Given the description of an element on the screen output the (x, y) to click on. 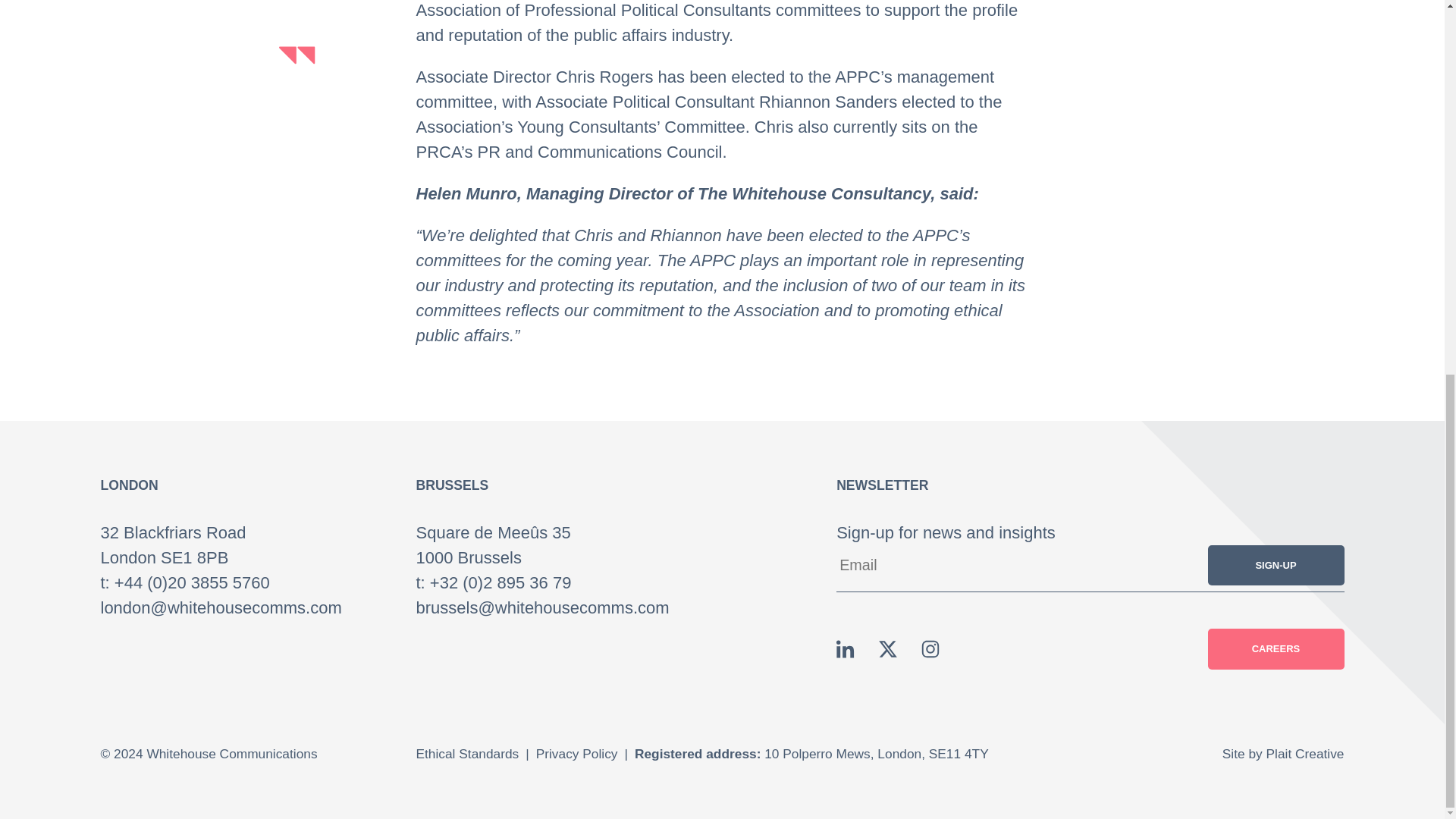
Sign-up (1275, 565)
Sign-up (1275, 565)
Plait Creative (1304, 753)
Ethical Standards (467, 753)
Privacy Policy (576, 753)
CAREERS (1275, 648)
